Given the description of an element on the screen output the (x, y) to click on. 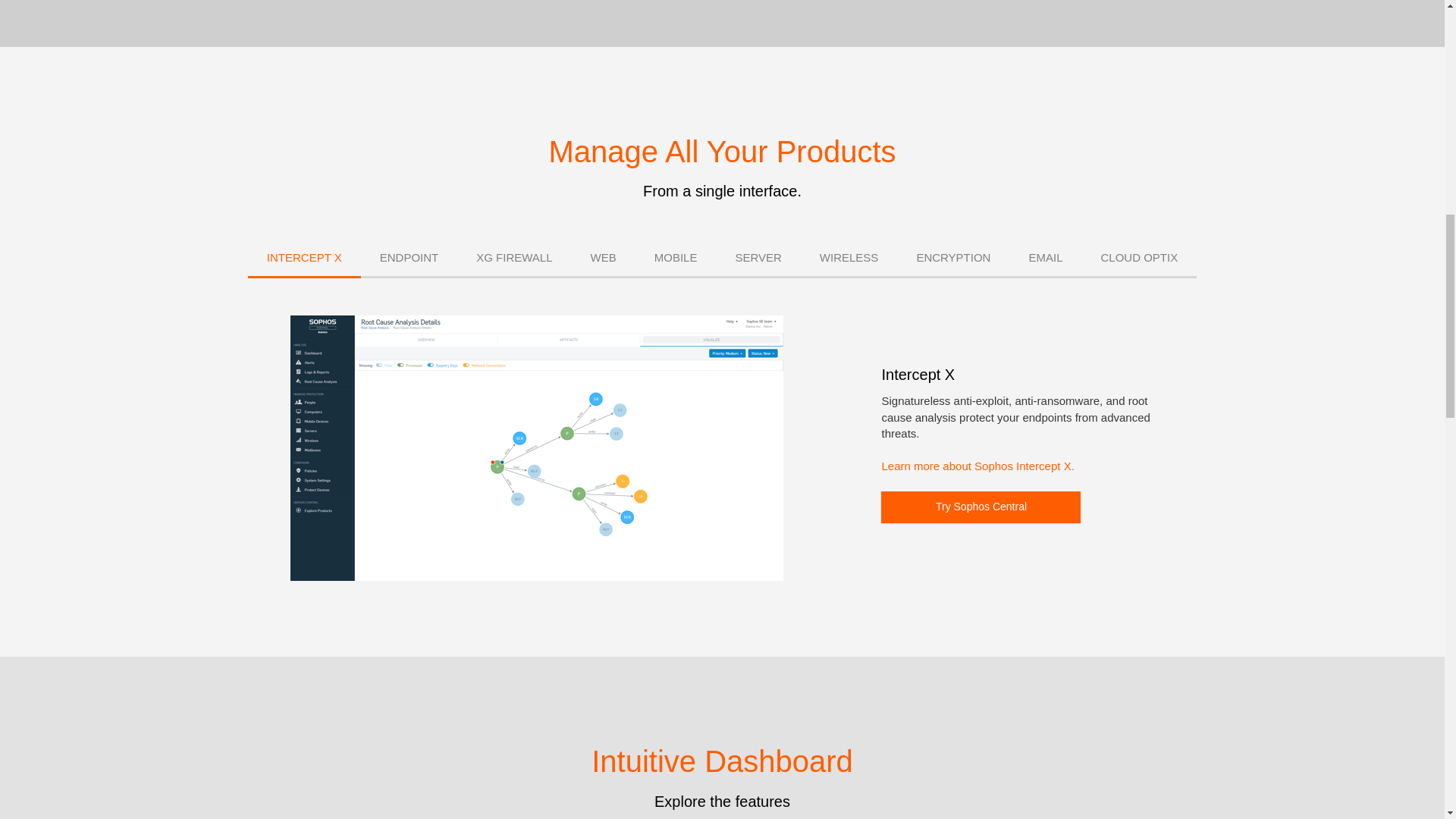
MOBILE (675, 258)
ENDPOINT (409, 258)
INTERCEPT X (304, 258)
XG FIREWALL (513, 258)
WEB (603, 258)
